Given the description of an element on the screen output the (x, y) to click on. 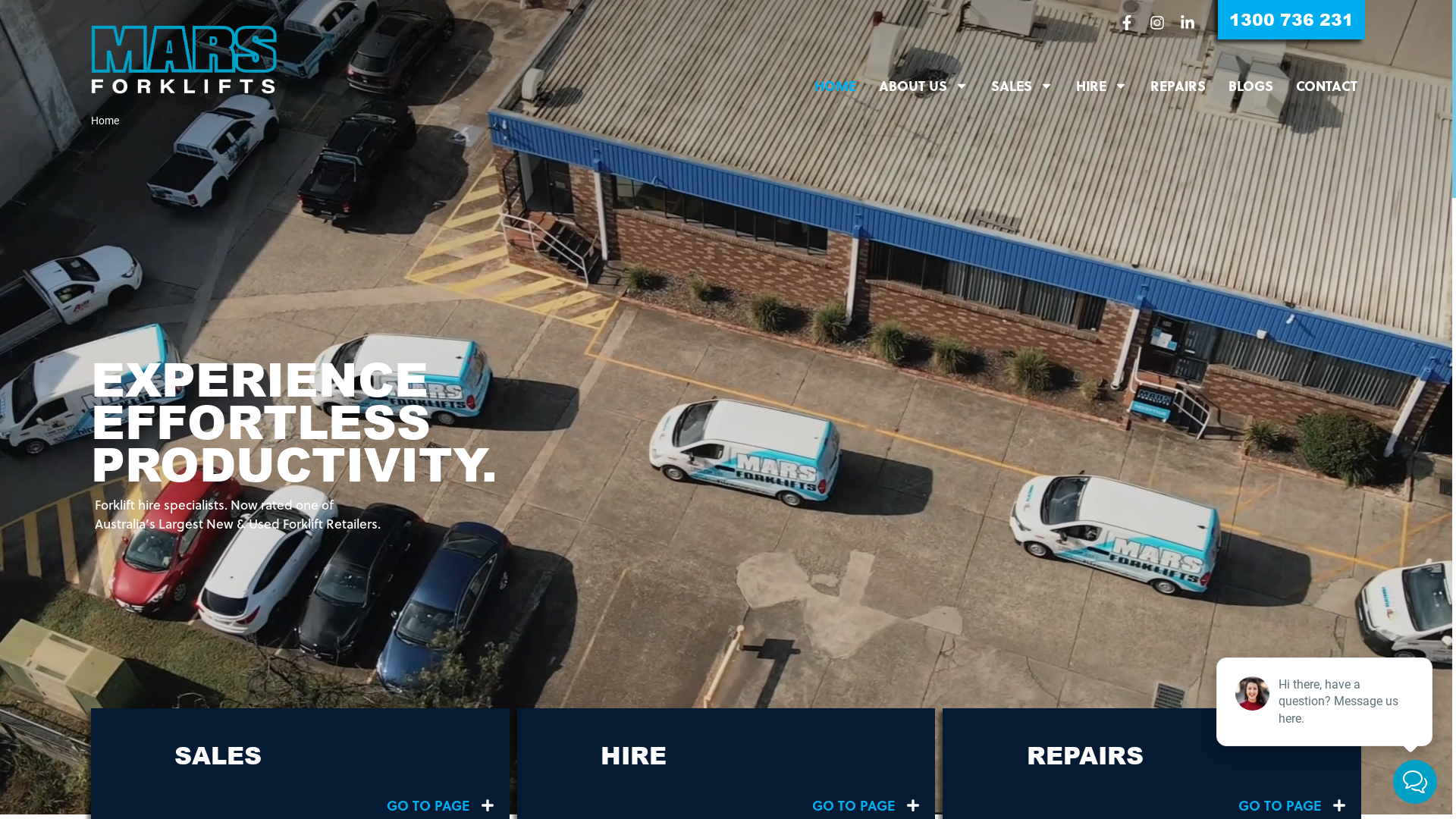
GO TO PAGE Element type: text (1292, 805)
CONTACT Element type: text (1326, 85)
BLOGS Element type: text (1250, 85)
HOME Element type: text (834, 85)
ABOUT US Element type: text (923, 85)
REPAIRS Element type: text (1177, 85)
GO TO PAGE Element type: text (865, 805)
GO TO PAGE Element type: text (440, 805)
HIRE Element type: text (1101, 85)
SALES Element type: text (1021, 85)
